Given the description of an element on the screen output the (x, y) to click on. 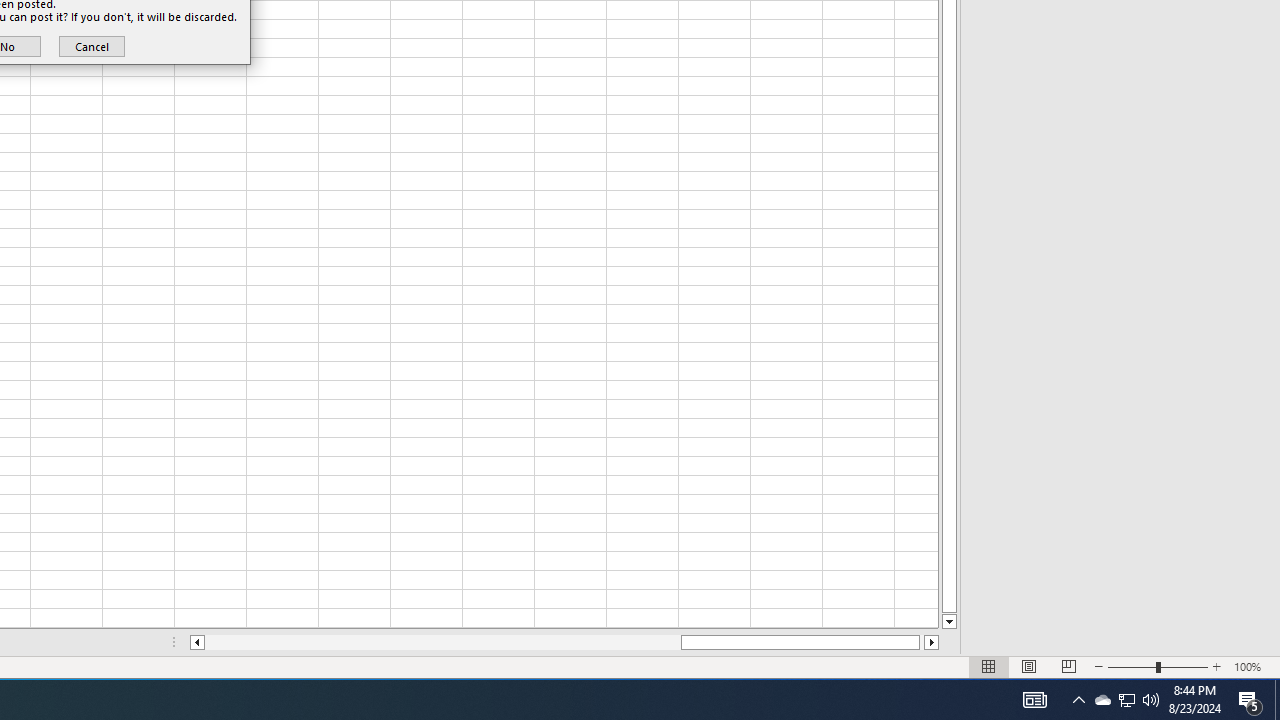
Notification Chevron (1078, 699)
Page right (922, 642)
AutomationID: 4105 (1034, 699)
User Promoted Notification Area (1126, 699)
Q2790: 100% (1151, 699)
